Given the description of an element on the screen output the (x, y) to click on. 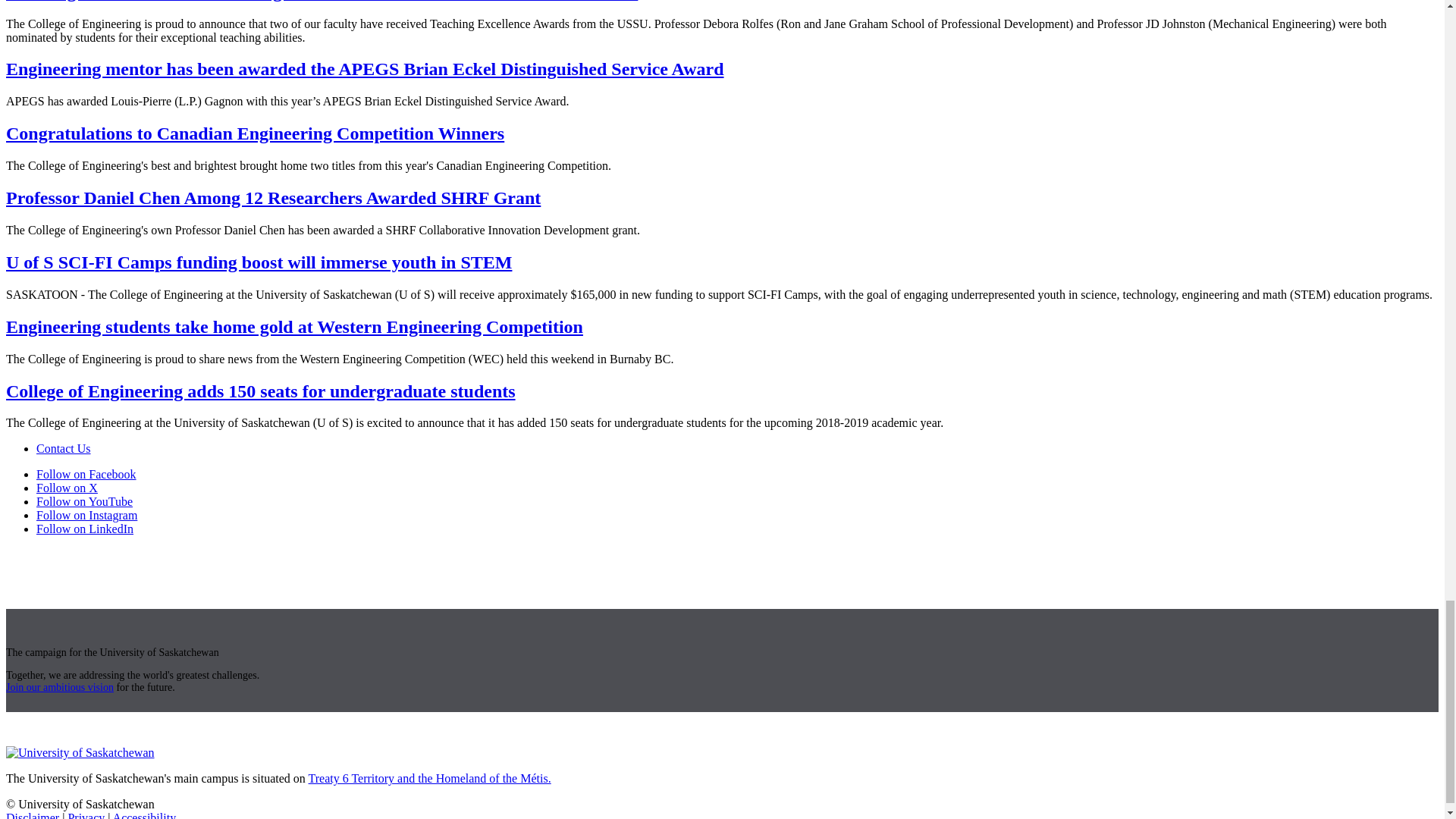
Follow on YouTube (84, 501)
Follow on X (66, 487)
Follow on Instagram (86, 514)
Follow on Facebook (86, 473)
Follow on LinkedIn (84, 528)
